Given the description of an element on the screen output the (x, y) to click on. 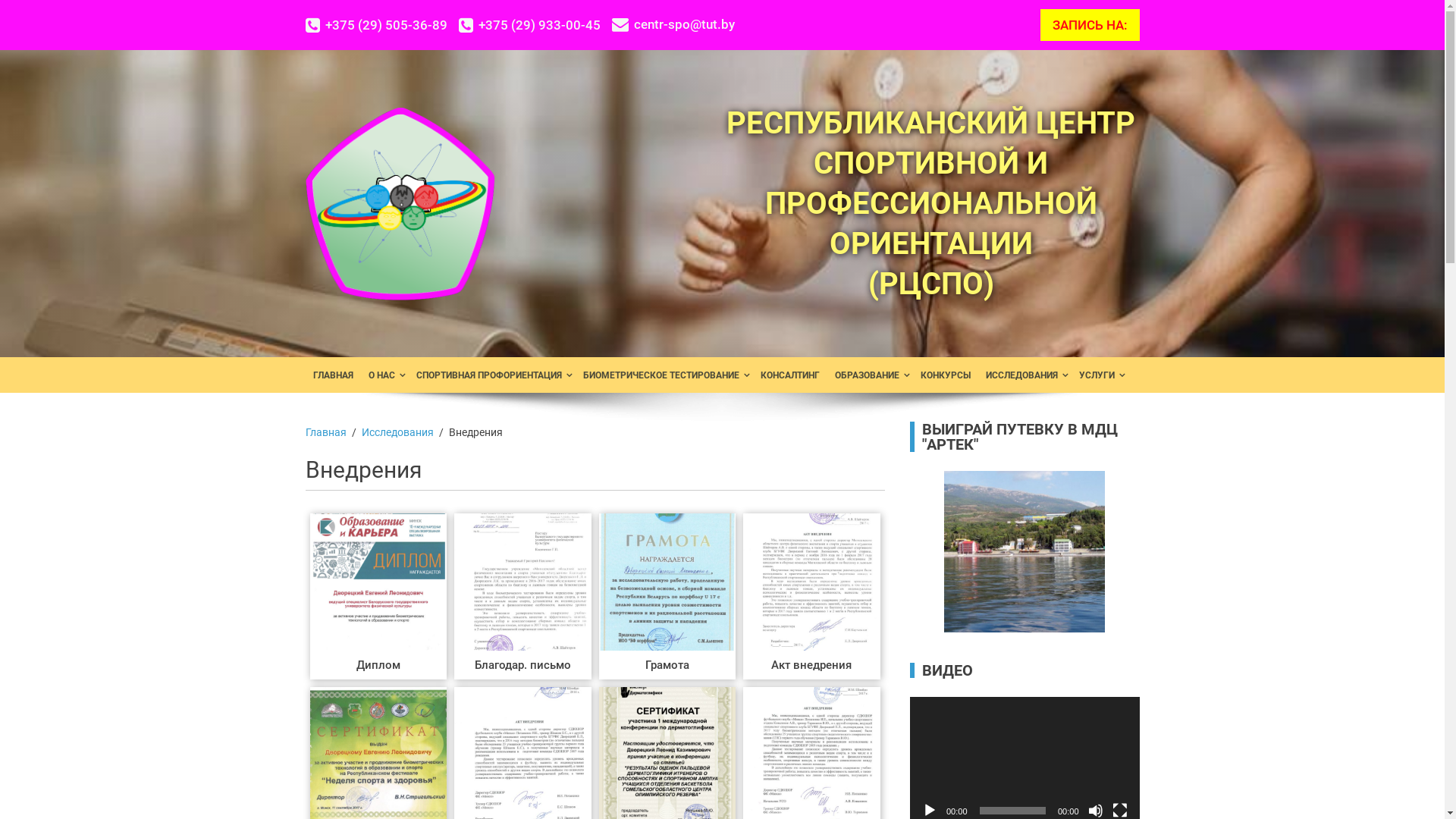
centr-spo@tut.by Element type: text (672, 24)
+375 (29) 933-00-45 Element type: text (534, 24)
+375 (29) 505-36-89 Element type: text (381, 24)
